Given the description of an element on the screen output the (x, y) to click on. 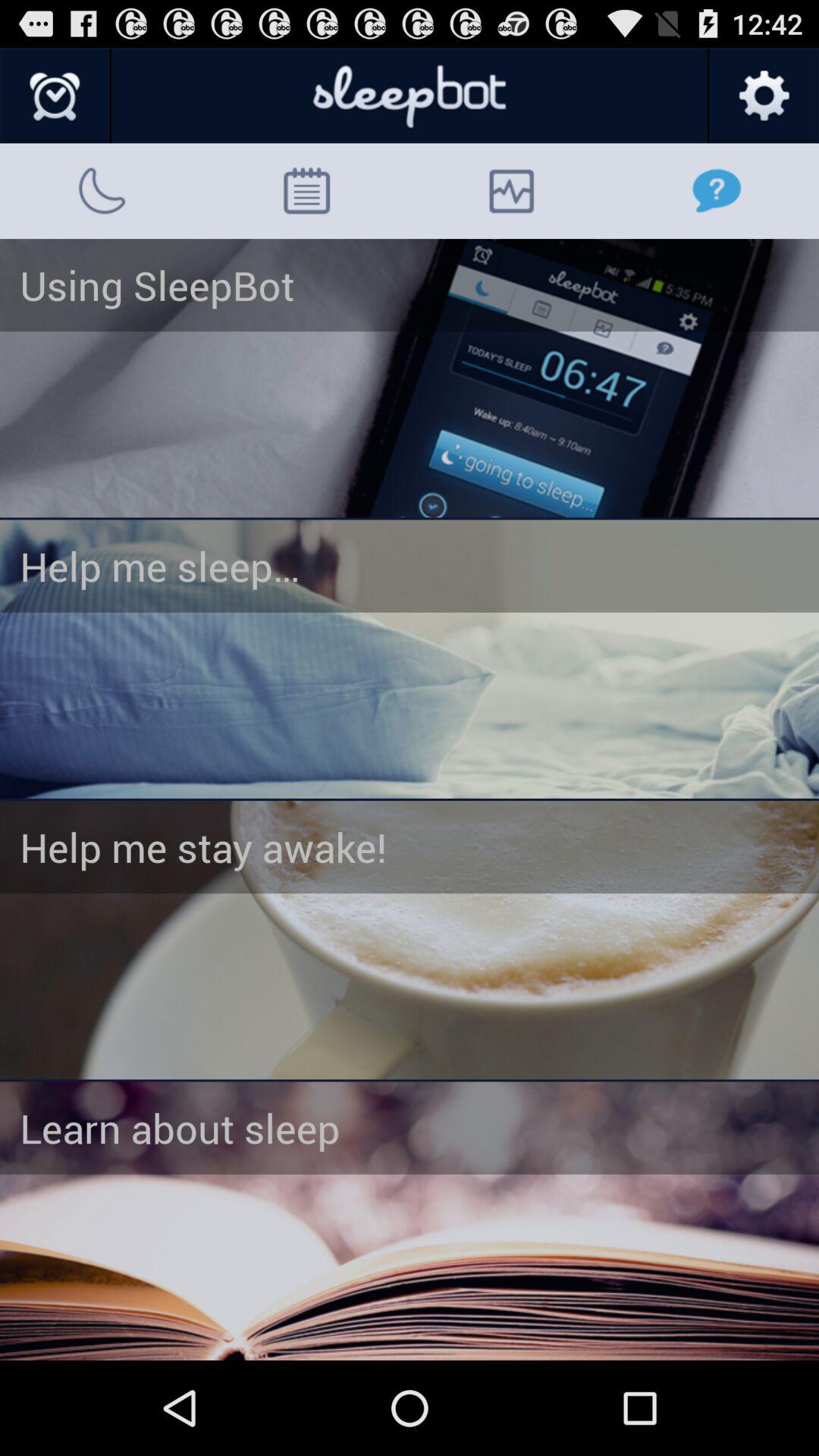
show help (409, 377)
